Given the description of an element on the screen output the (x, y) to click on. 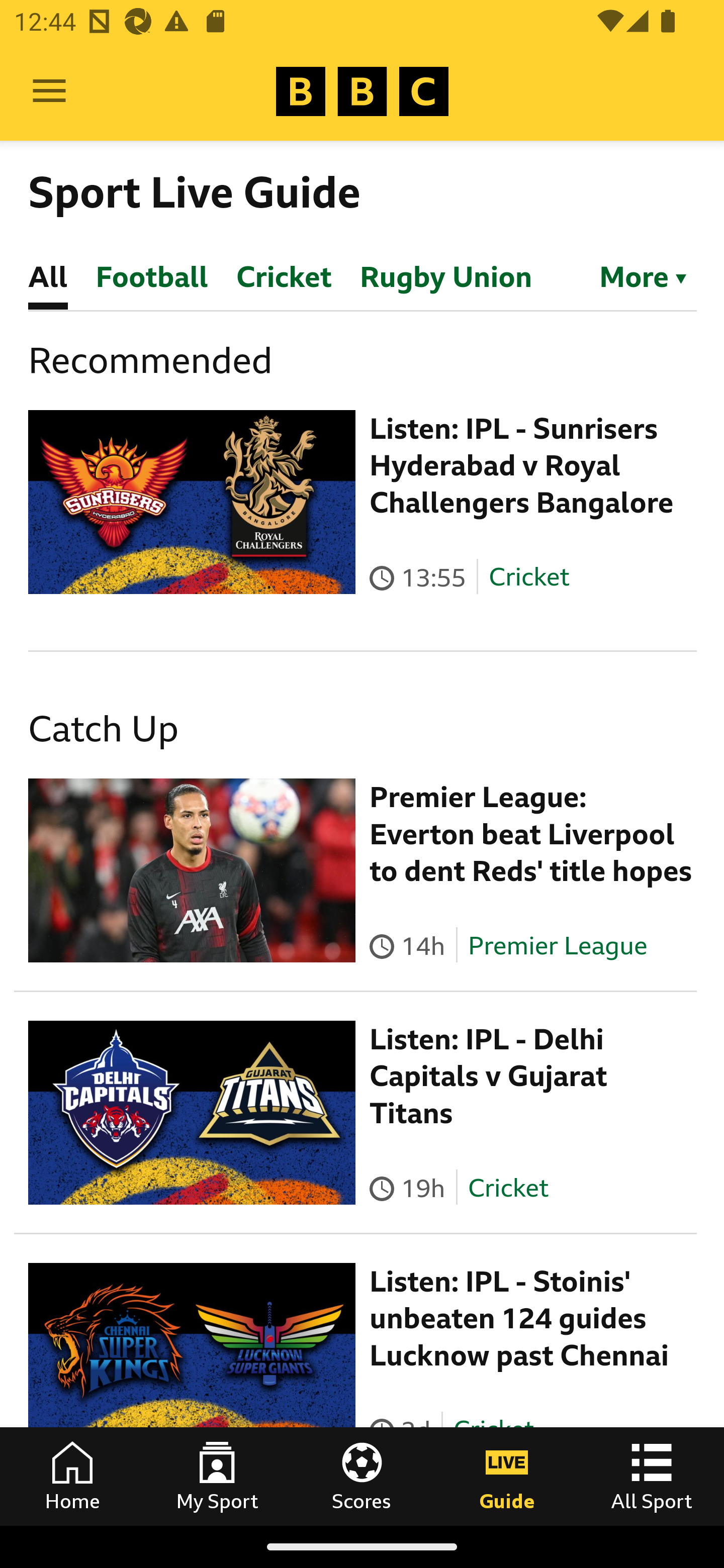
Open Menu (49, 91)
Cricket (528, 576)
Premier League (557, 945)
Listen: IPL - Delhi Capitals v Gujarat Titans (488, 1076)
Cricket (507, 1186)
Home (72, 1475)
My Sport (216, 1475)
Scores (361, 1475)
All Sport (651, 1475)
